Given the description of an element on the screen output the (x, y) to click on. 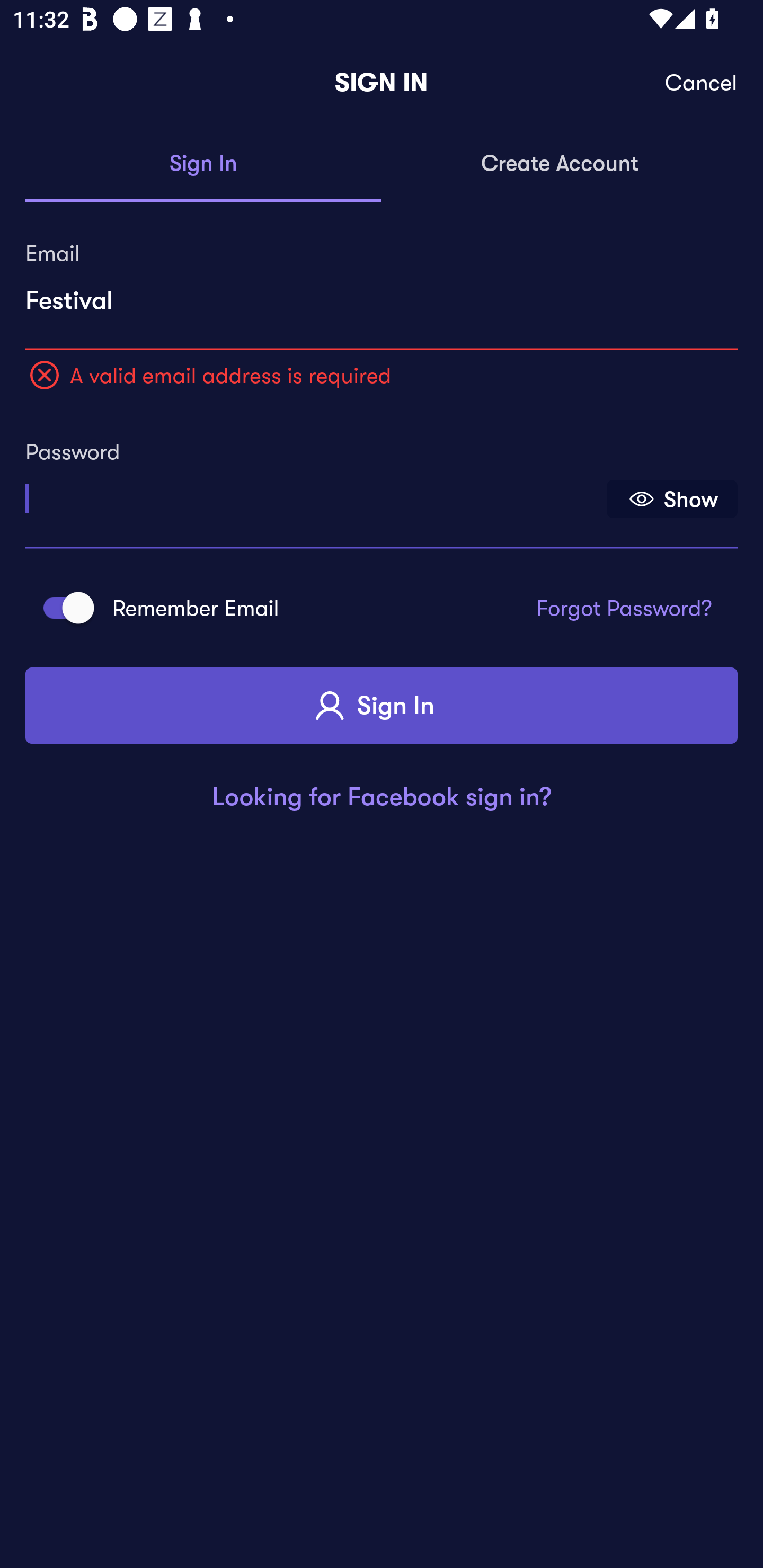
Cancel (701, 82)
Sign In (203, 164)
Create Account (559, 164)
Password (314, 493)
Show Password Show (671, 498)
Remember Email (62, 607)
Sign In (381, 705)
